Given the description of an element on the screen output the (x, y) to click on. 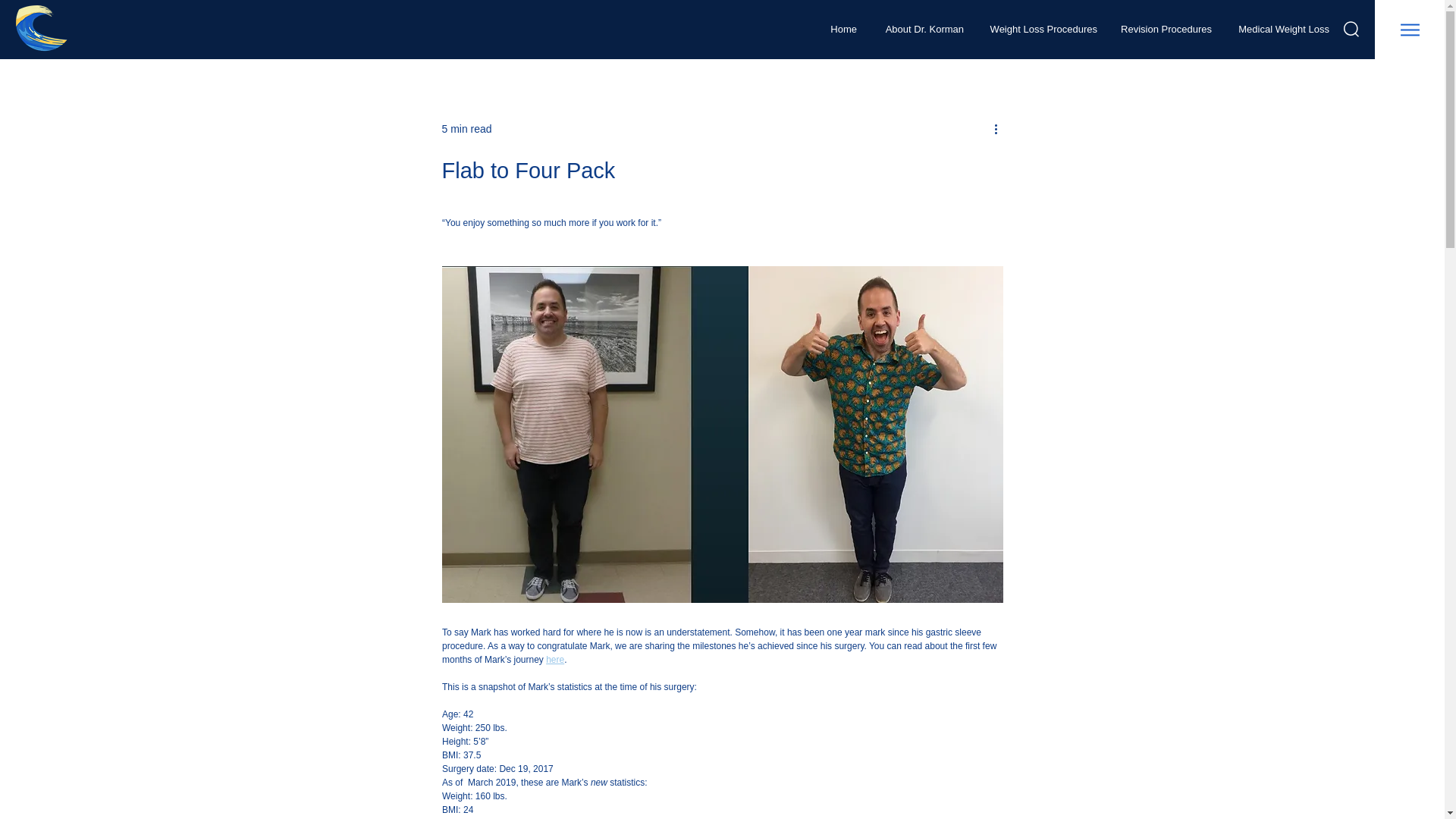
About Dr. Korman (921, 28)
here (555, 659)
Home (841, 28)
5 min read (466, 128)
Medical Weight Loss (1281, 28)
